Given the description of an element on the screen output the (x, y) to click on. 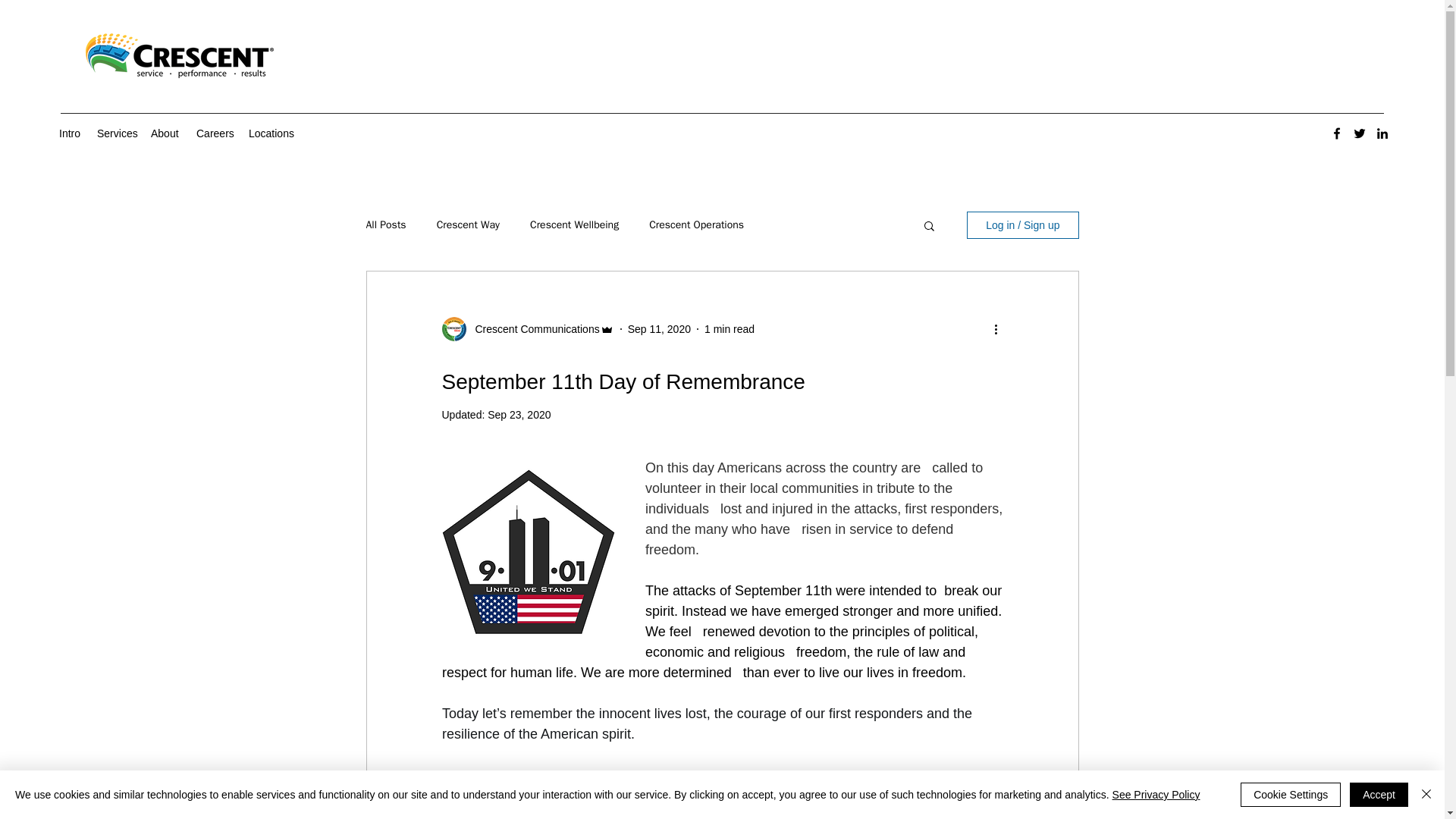
All Posts (385, 224)
Services (115, 133)
Sep 23, 2020 (518, 414)
1 min read (729, 328)
Careers (215, 133)
Locations (271, 133)
About (165, 133)
Crescent Operations (696, 224)
Crescent Communications (531, 329)
Crescent Wellbeing (573, 224)
Crescent Way (467, 224)
Intro (69, 133)
Sep 11, 2020 (658, 328)
Crescet Logo (179, 55)
